Given the description of an element on the screen output the (x, y) to click on. 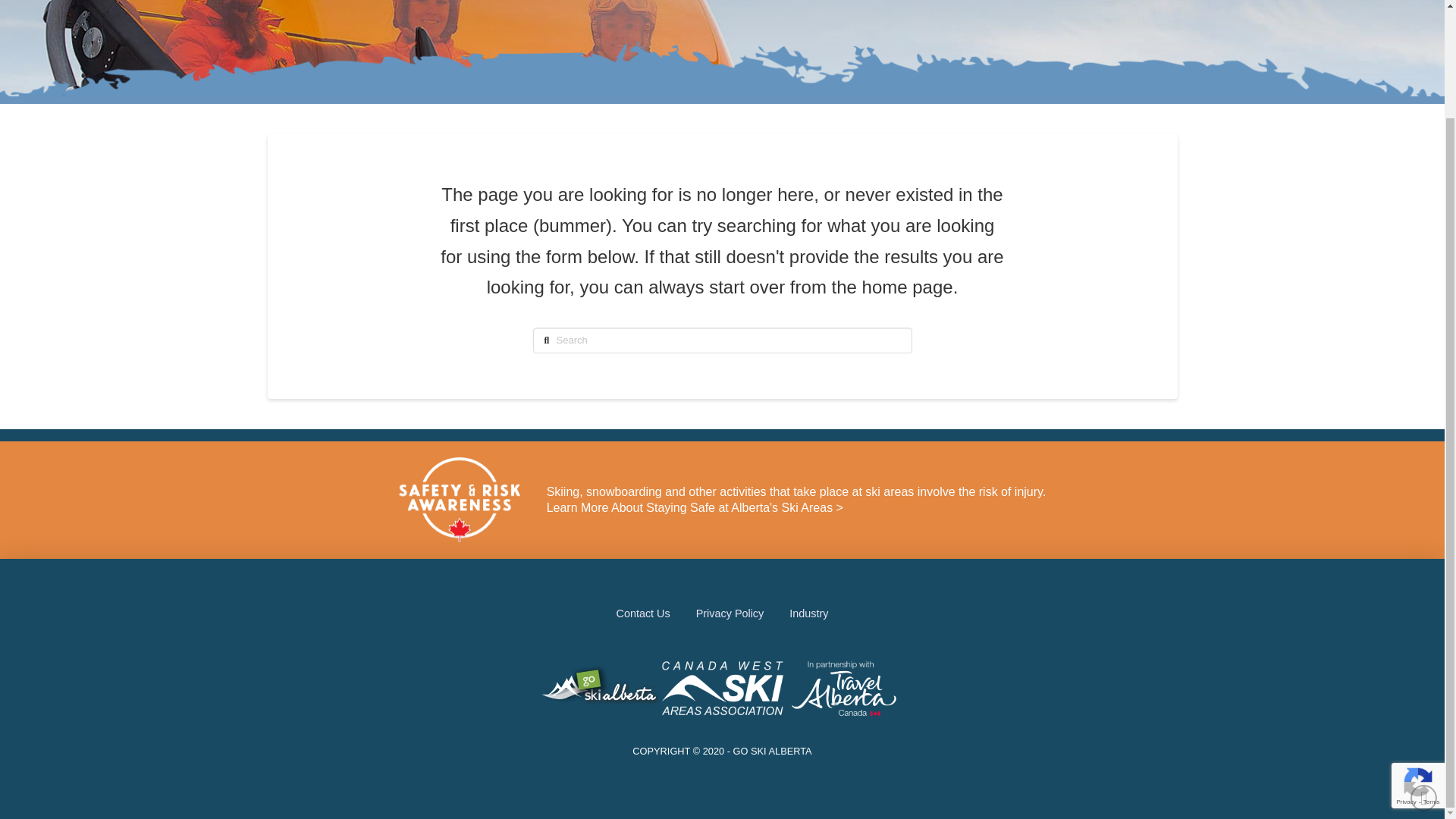
Contact Us (643, 613)
Privacy Policy (729, 613)
Industry (808, 613)
Back to Top (1423, 671)
